Given the description of an element on the screen output the (x, y) to click on. 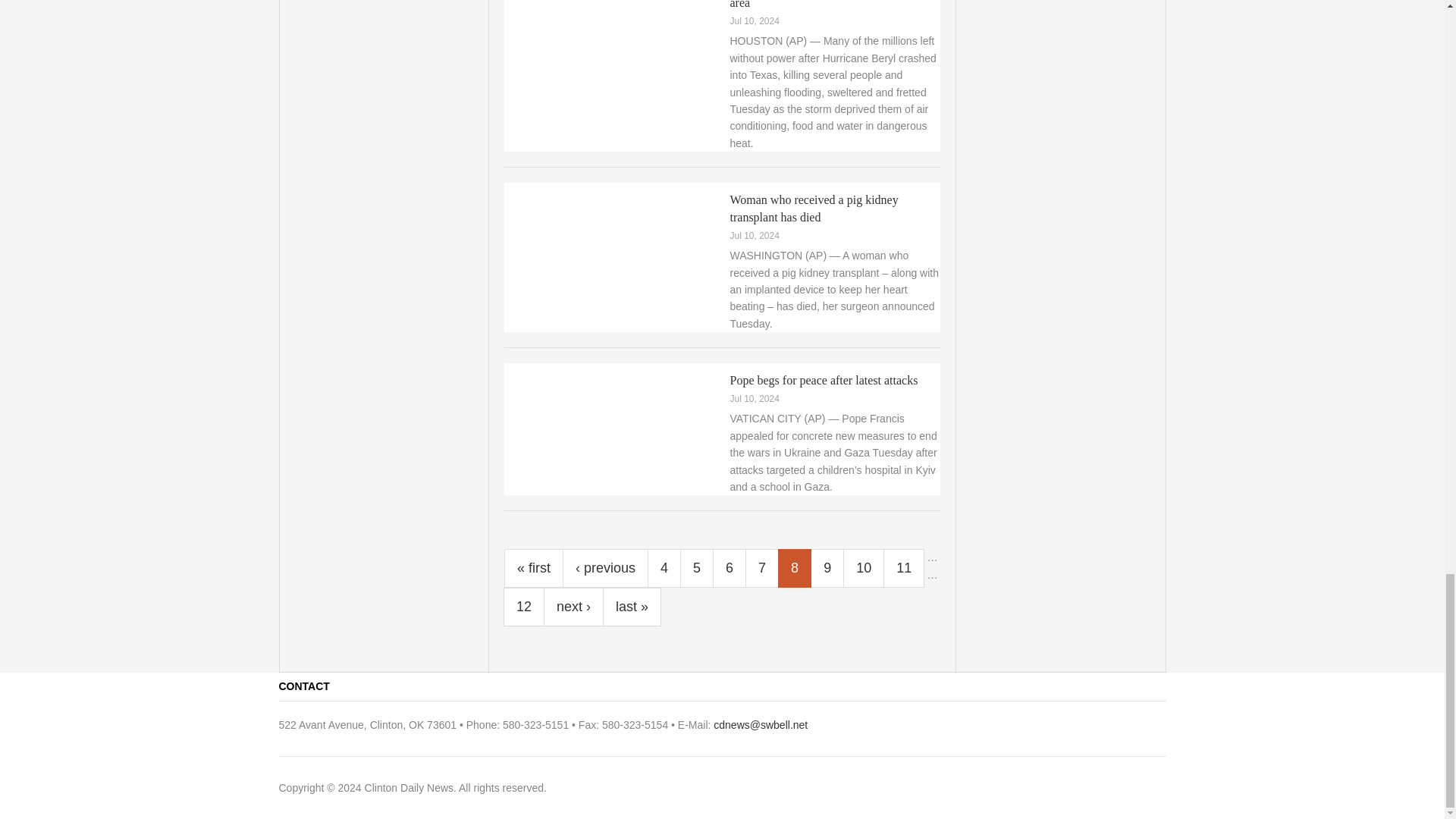
Beryl leaves hot misery in the Houston area (823, 4)
Woman who received a pig kidney transplant has died (813, 208)
Go to first page (533, 568)
Pope begs for peace after latest attacks (823, 379)
